Given the description of an element on the screen output the (x, y) to click on. 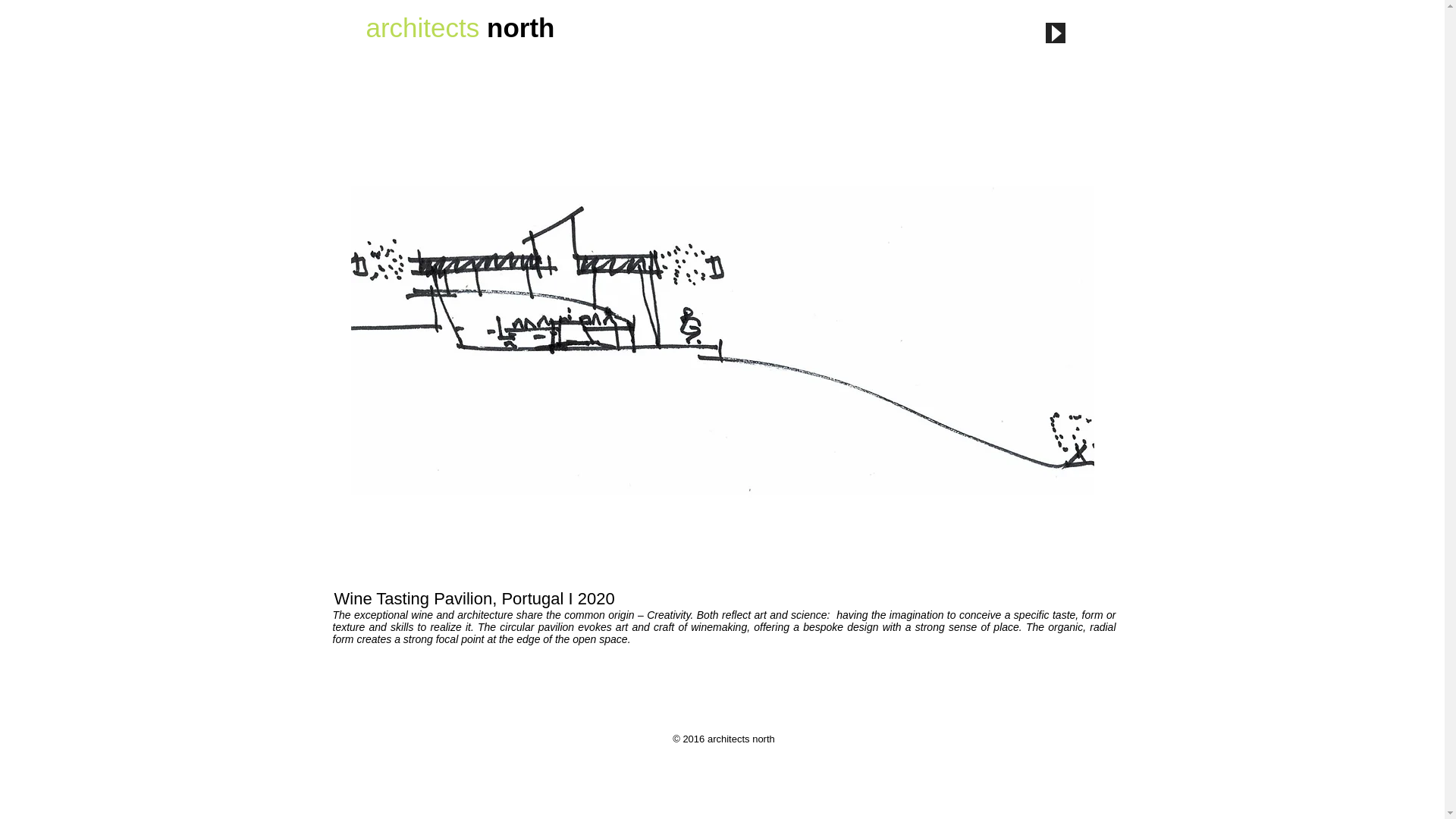
architect (415, 27)
